Given the description of an element on the screen output the (x, y) to click on. 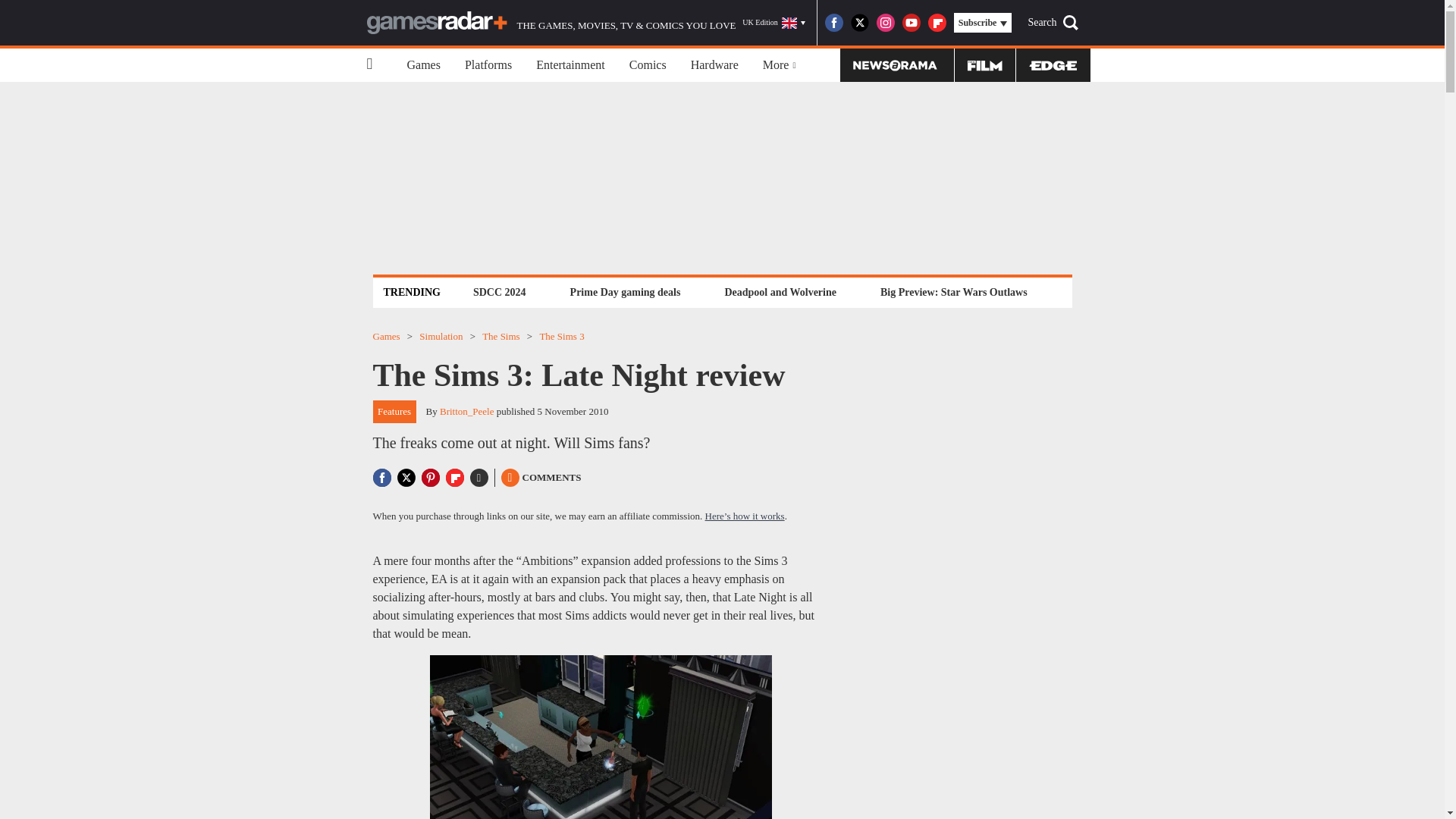
Entertainment (570, 64)
Hardware (714, 64)
Games (422, 64)
Big Preview: Star Wars Outlaws (953, 292)
UK Edition (773, 22)
Platforms (488, 64)
Prime Day gaming deals (624, 292)
Comics (647, 64)
Deadpool and Wolverine (780, 292)
SDCC 2024 (499, 292)
